Given the description of an element on the screen output the (x, y) to click on. 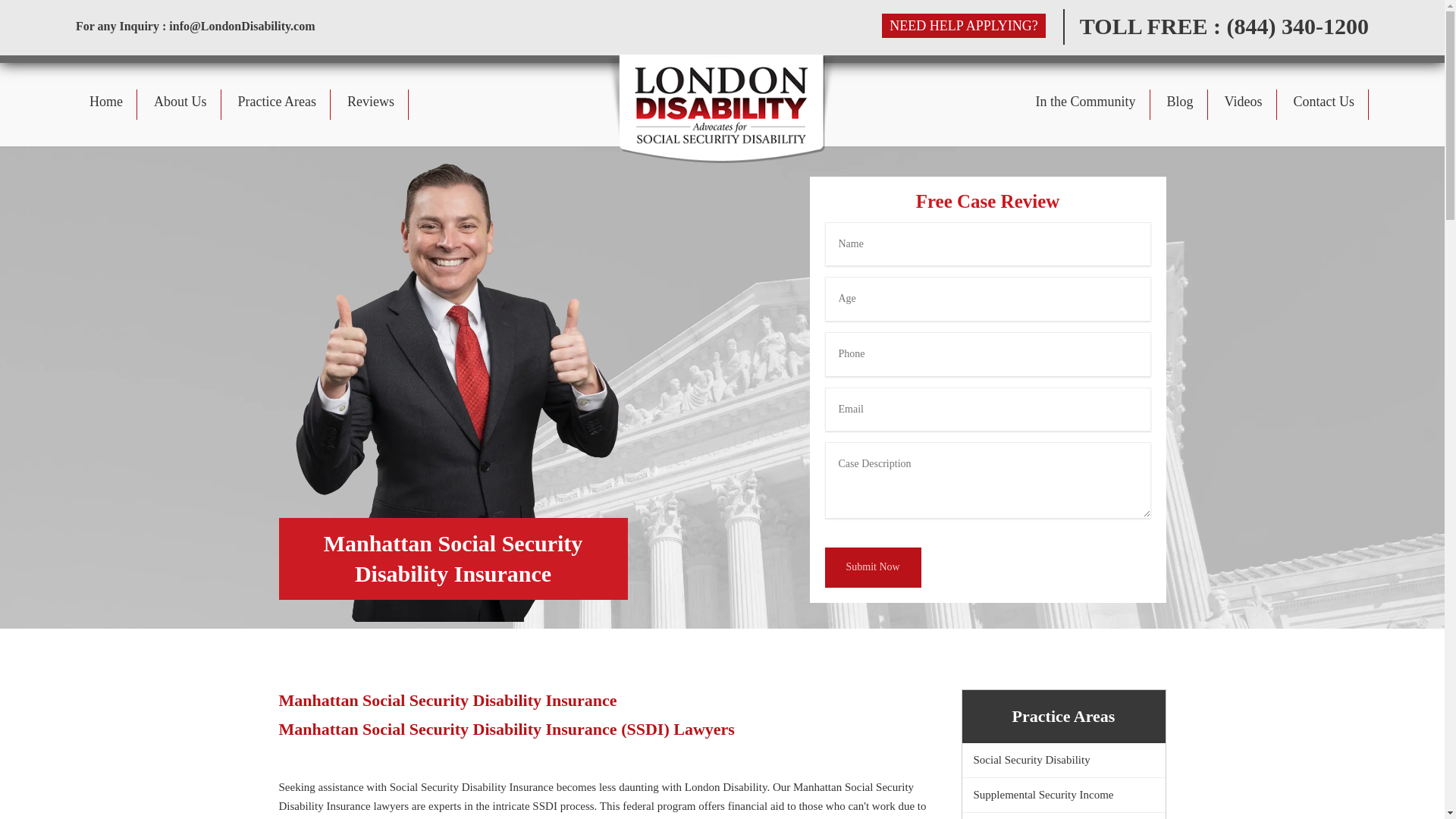
Reviews (370, 114)
In the Community (1085, 114)
Social Security Disability (1062, 759)
Social Security Disability Insurance (1062, 816)
About Us (180, 114)
NEED HELP APPLYING? (963, 25)
Supplemental Security Income (1062, 795)
Practice Areas (276, 114)
Submit Now (873, 567)
Contact Us (1324, 114)
